Given the description of an element on the screen output the (x, y) to click on. 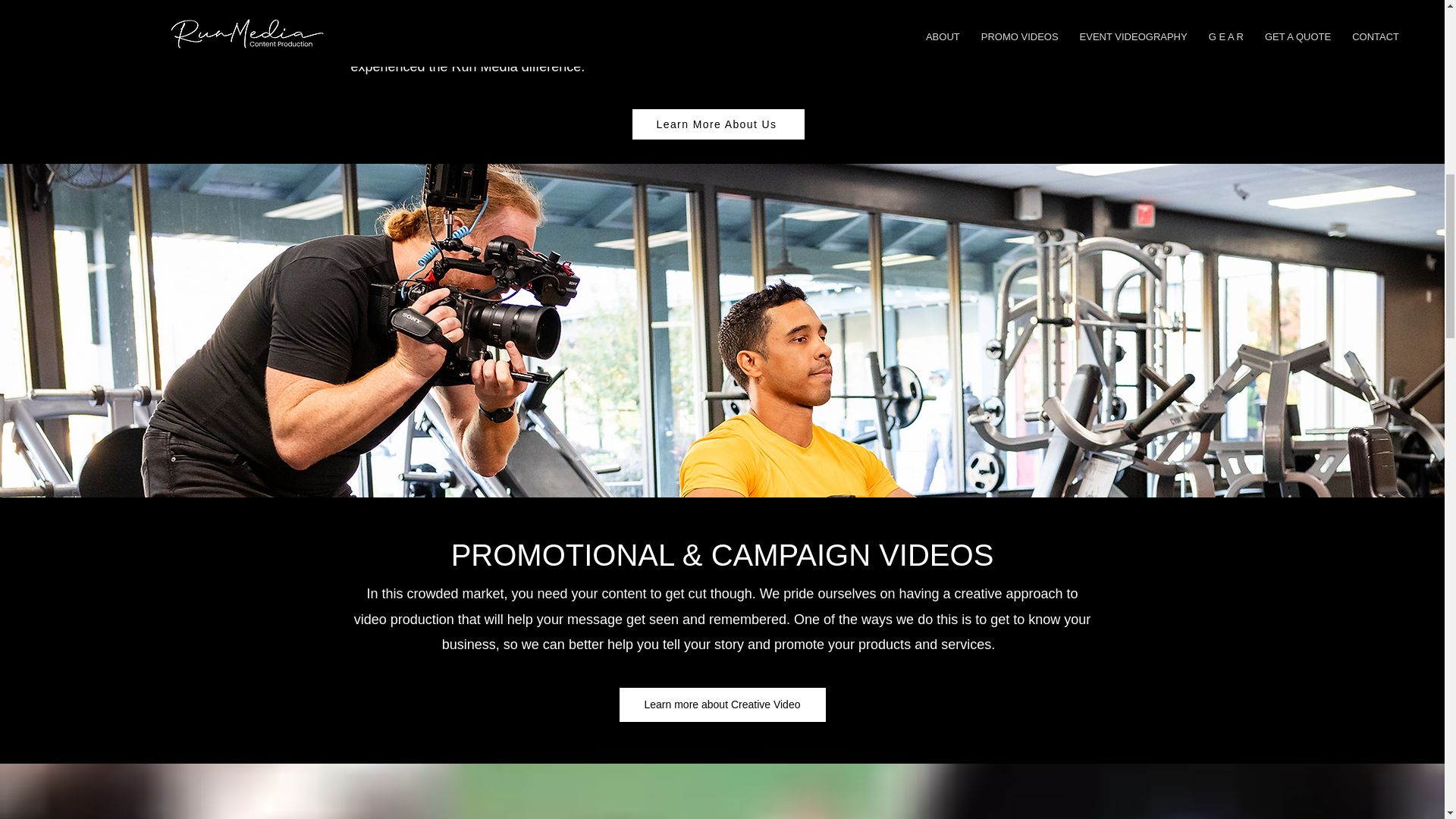
Learn more about Creative Video (721, 704)
Learn More About Us (718, 123)
